Given the description of an element on the screen output the (x, y) to click on. 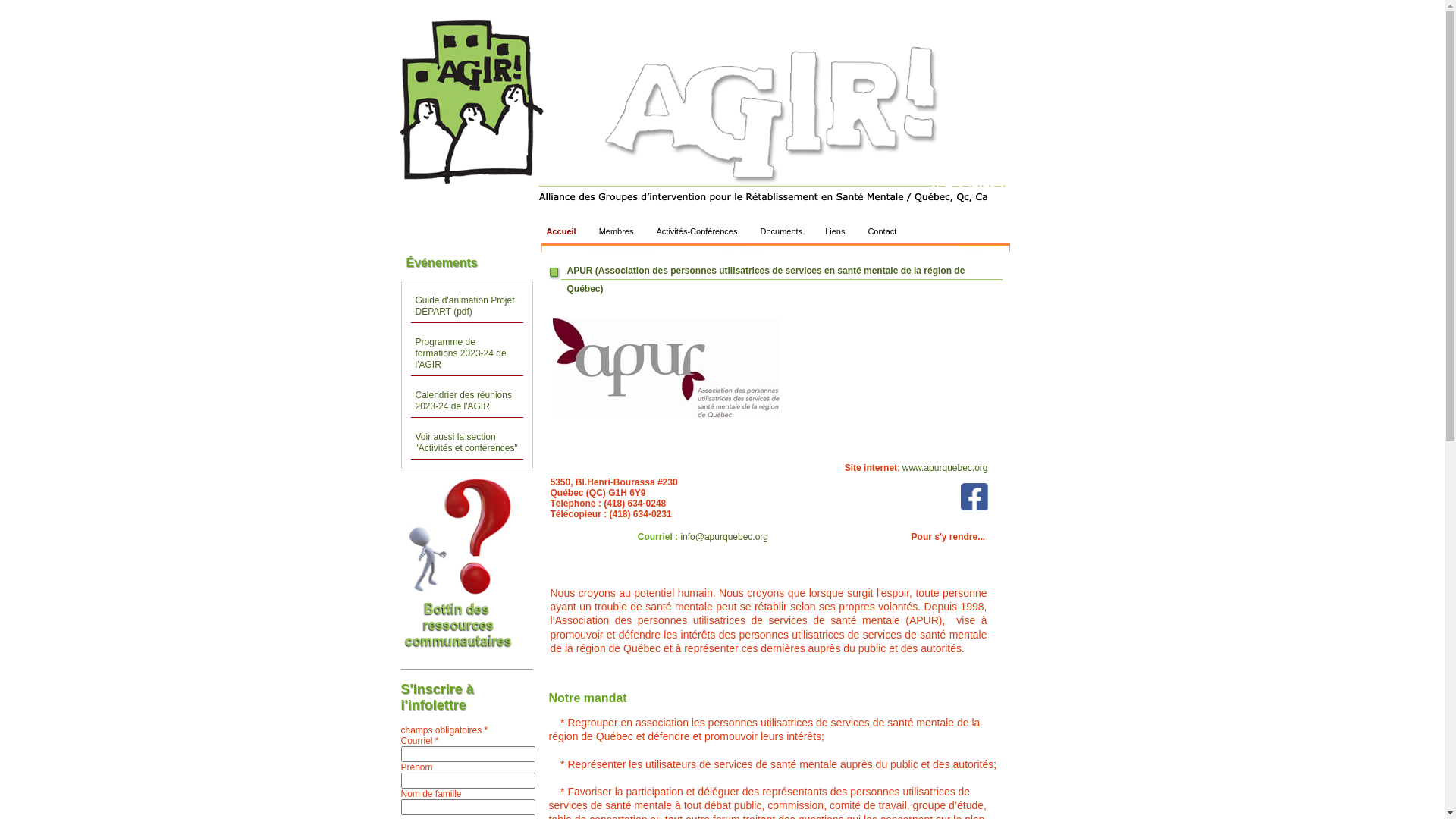
Programme de formations 2023-24 de l'AGIR Element type: text (467, 354)
Documents Element type: text (780, 231)
Bottin des ressources 2021-2022 (pdf) Element type: hover (468, 656)
Membres Element type: text (616, 231)
Contact Element type: text (881, 231)
www.apurquebec.org Element type: text (945, 467)
Liens Element type: text (834, 231)
info@apurquebec.org Element type: text (724, 536)
logo_apur_2.jpg Element type: hover (665, 368)
Accueil Element type: text (561, 231)
